Given the description of an element on the screen output the (x, y) to click on. 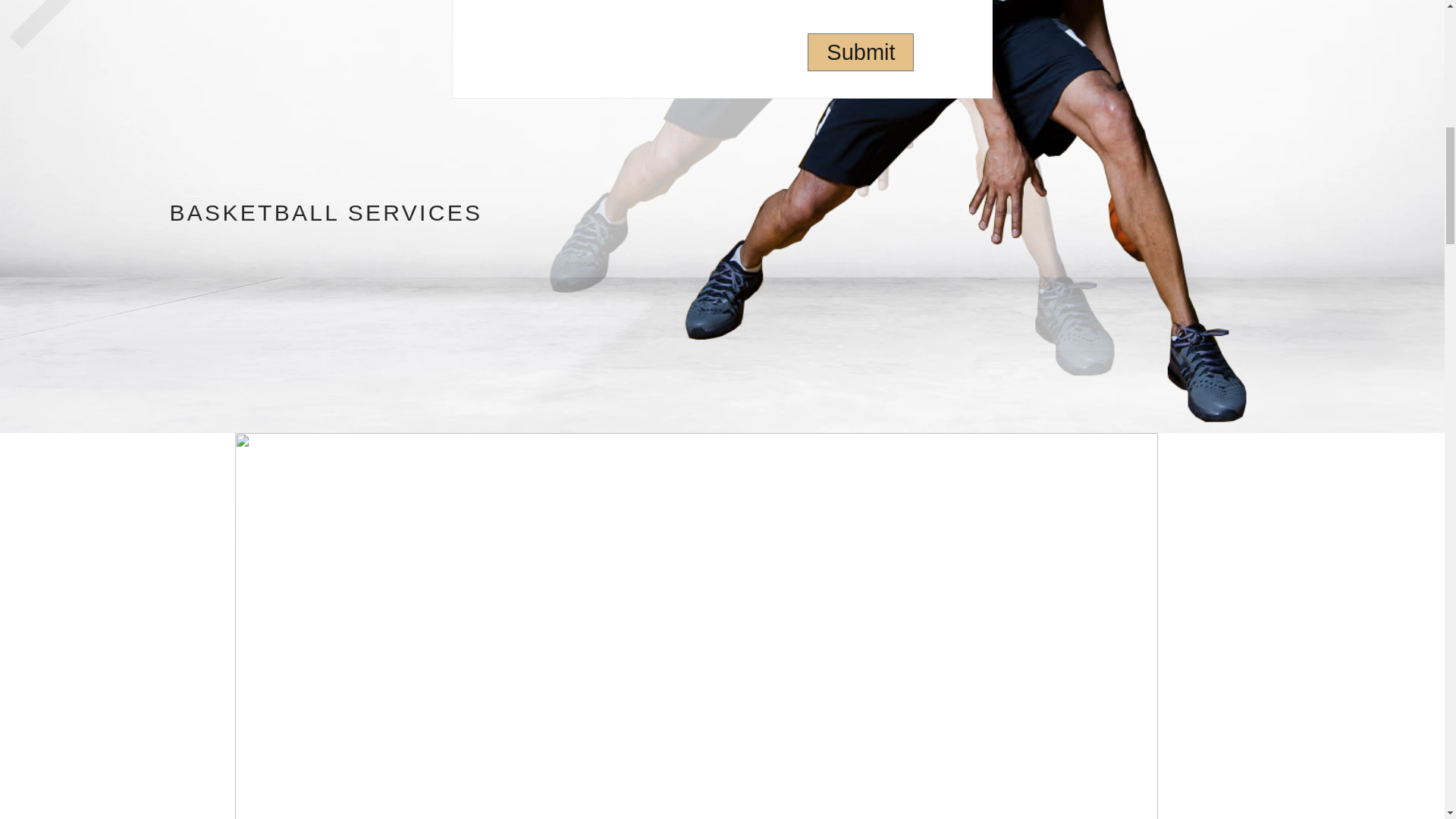
Submit (861, 52)
